Given the description of an element on the screen output the (x, y) to click on. 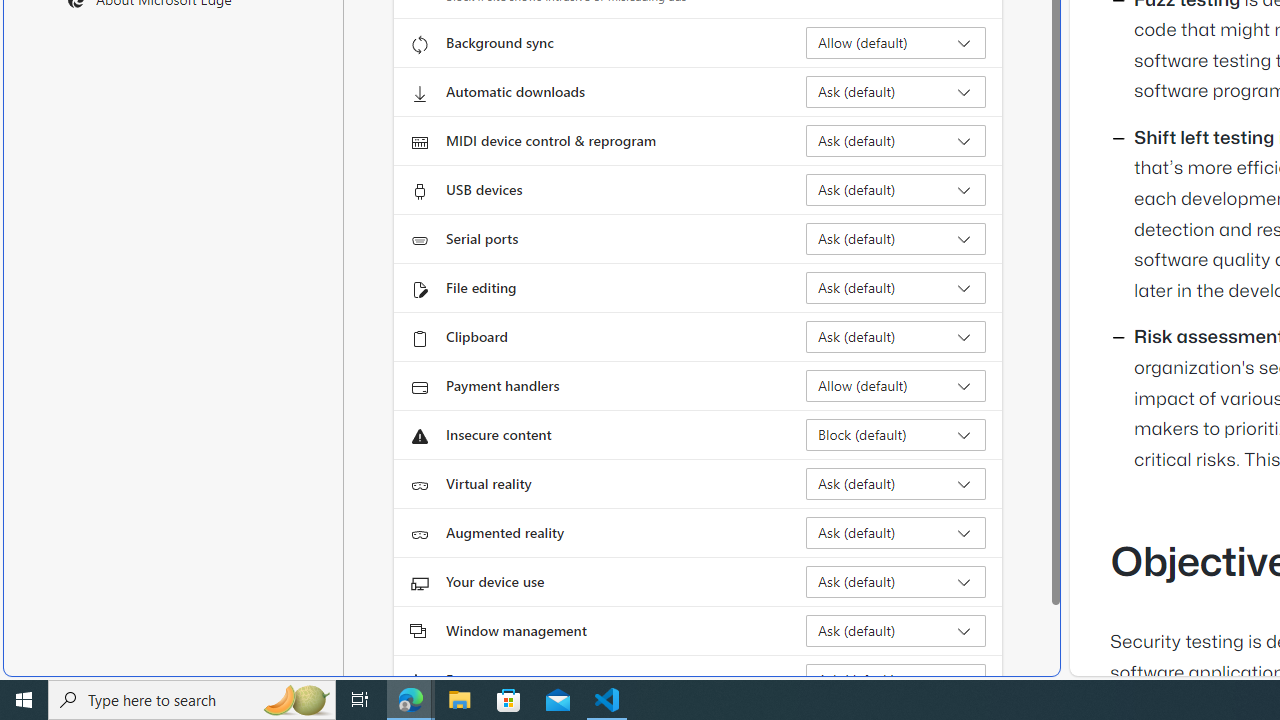
Clipboard Ask (default) (895, 336)
Automatic downloads Ask (default) (895, 92)
Your device use Ask (default) (895, 581)
Augmented reality Ask (default) (895, 532)
USB devices Ask (default) (895, 189)
File editing Ask (default) (895, 287)
MIDI device control & reprogram Ask (default) (895, 140)
Background sync Allow (default) (895, 43)
Serial ports Ask (default) (895, 238)
Fonts Ask (default) (895, 679)
Virtual reality Ask (default) (895, 483)
Window management Ask (default) (895, 630)
Payment handlers Allow (default) (895, 385)
Insecure content Block (default) (895, 434)
